Given the description of an element on the screen output the (x, y) to click on. 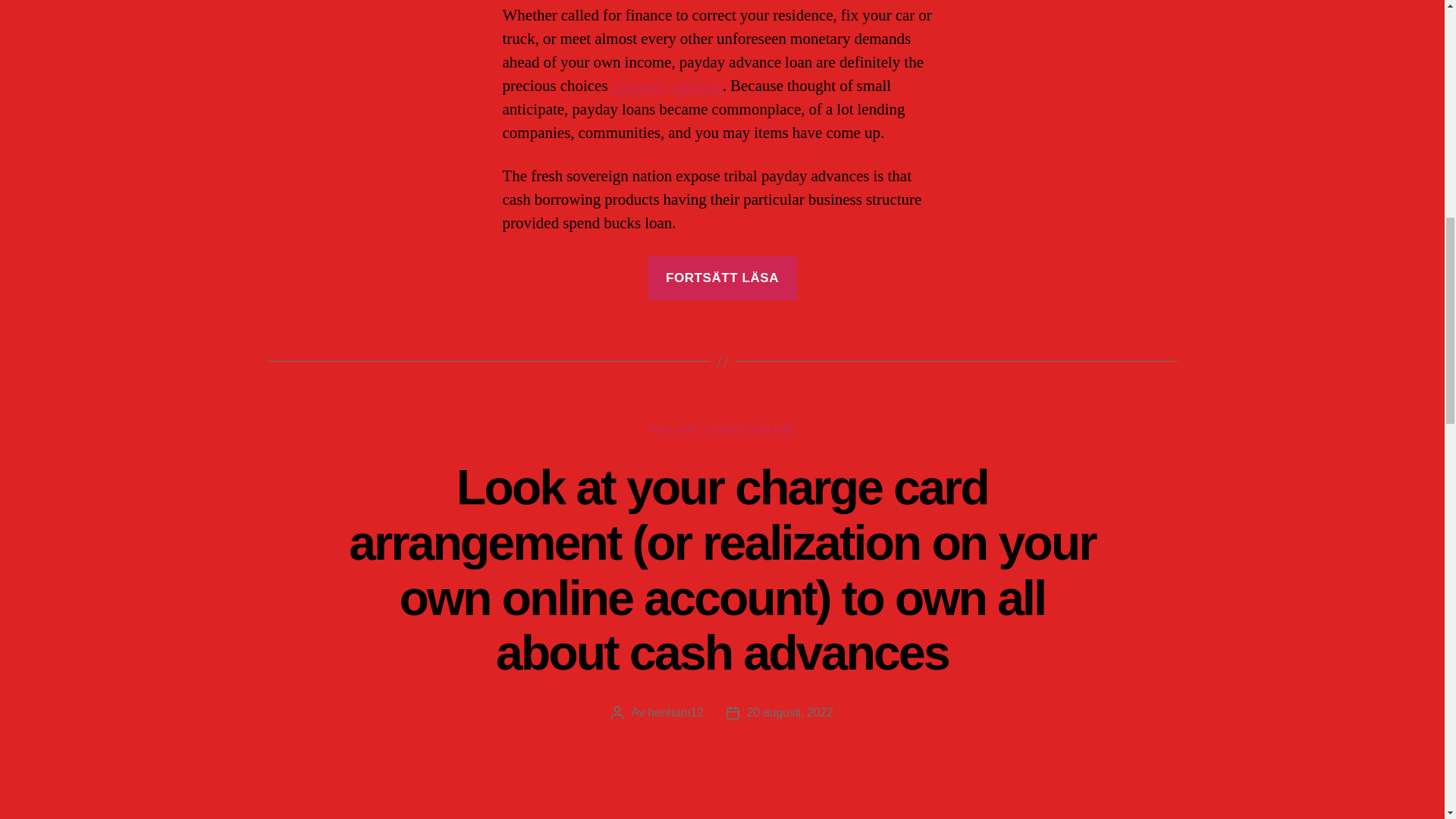
20 augusti, 2022 (789, 712)
henham12 (675, 712)
PAY DAY LOANS ONLINE (721, 429)
company website (666, 86)
